Given the description of an element on the screen output the (x, y) to click on. 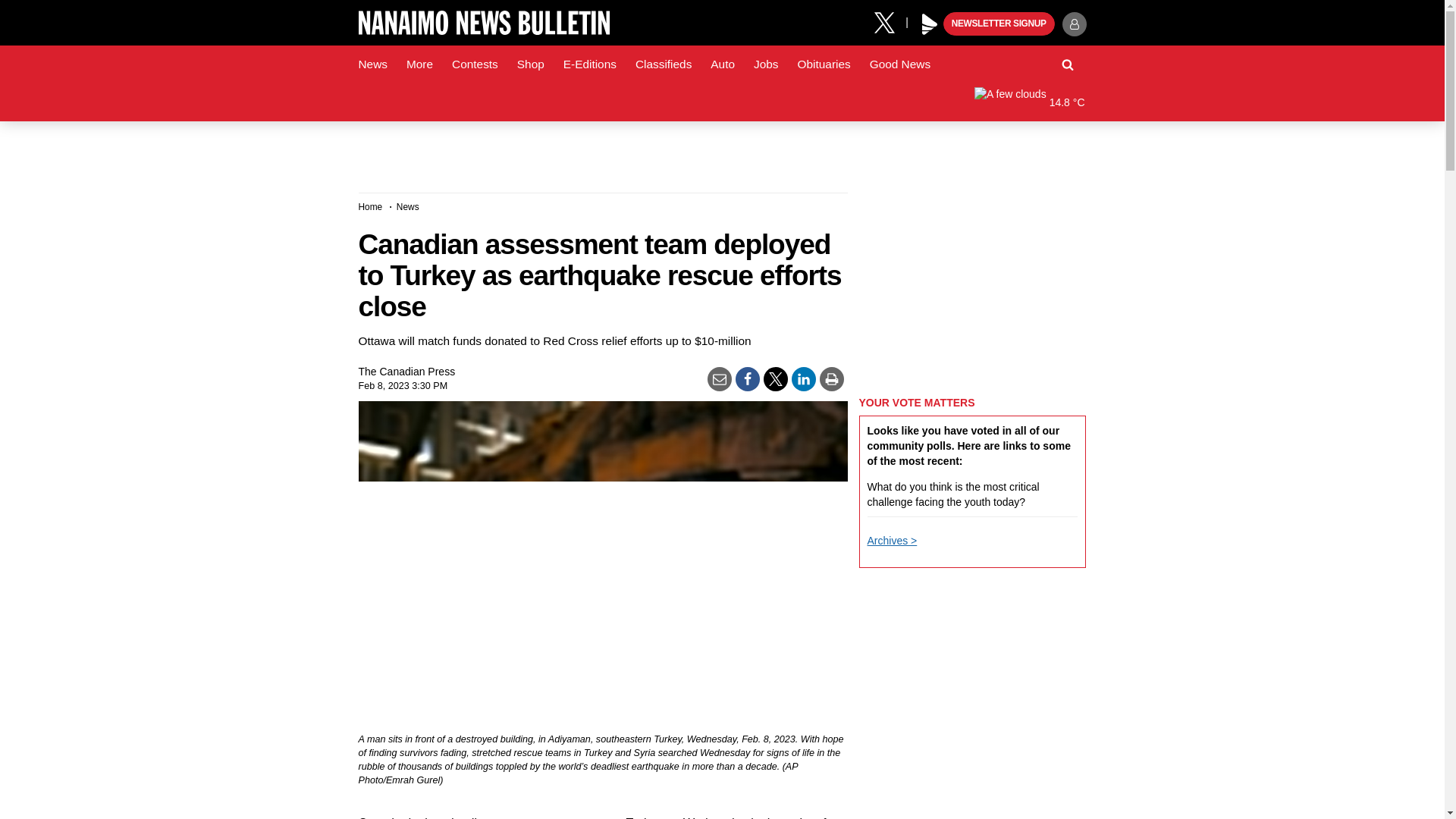
Play (929, 24)
News (372, 64)
NEWSLETTER SIGNUP (998, 24)
X (889, 21)
Black Press Media (929, 24)
